Given the description of an element on the screen output the (x, y) to click on. 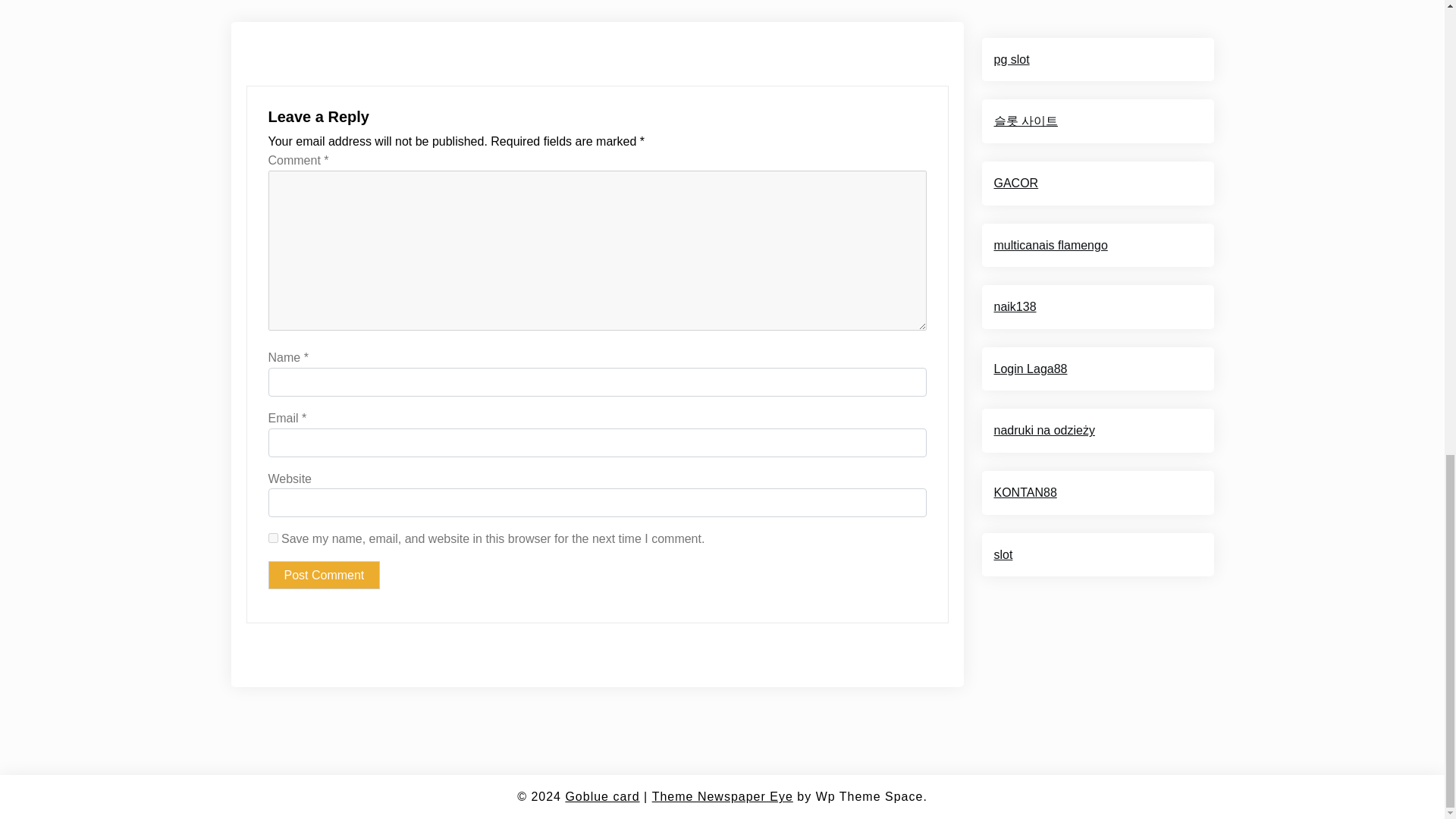
Post Comment (323, 575)
yes (272, 537)
